Given the description of an element on the screen output the (x, y) to click on. 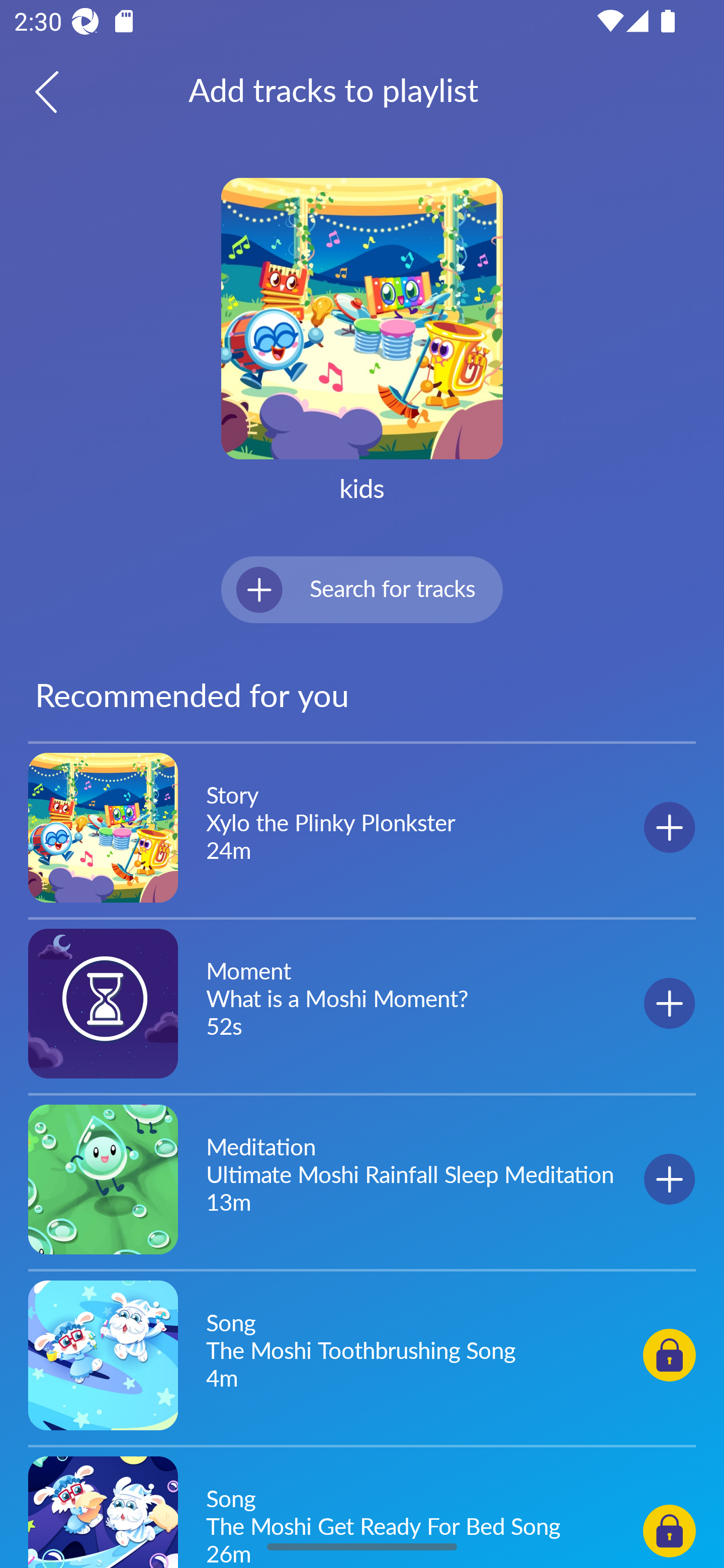
icon Search for tracks (361, 589)
Story Xylo the Plinky Plonkster 24m (361, 827)
Moment What is a Moshi Moment? 52s (361, 1003)
Song The Moshi Toothbrushing Song 4m (361, 1354)
Song The Moshi Get Ready For Bed Song 26m (361, 1509)
